Given the description of an element on the screen output the (x, y) to click on. 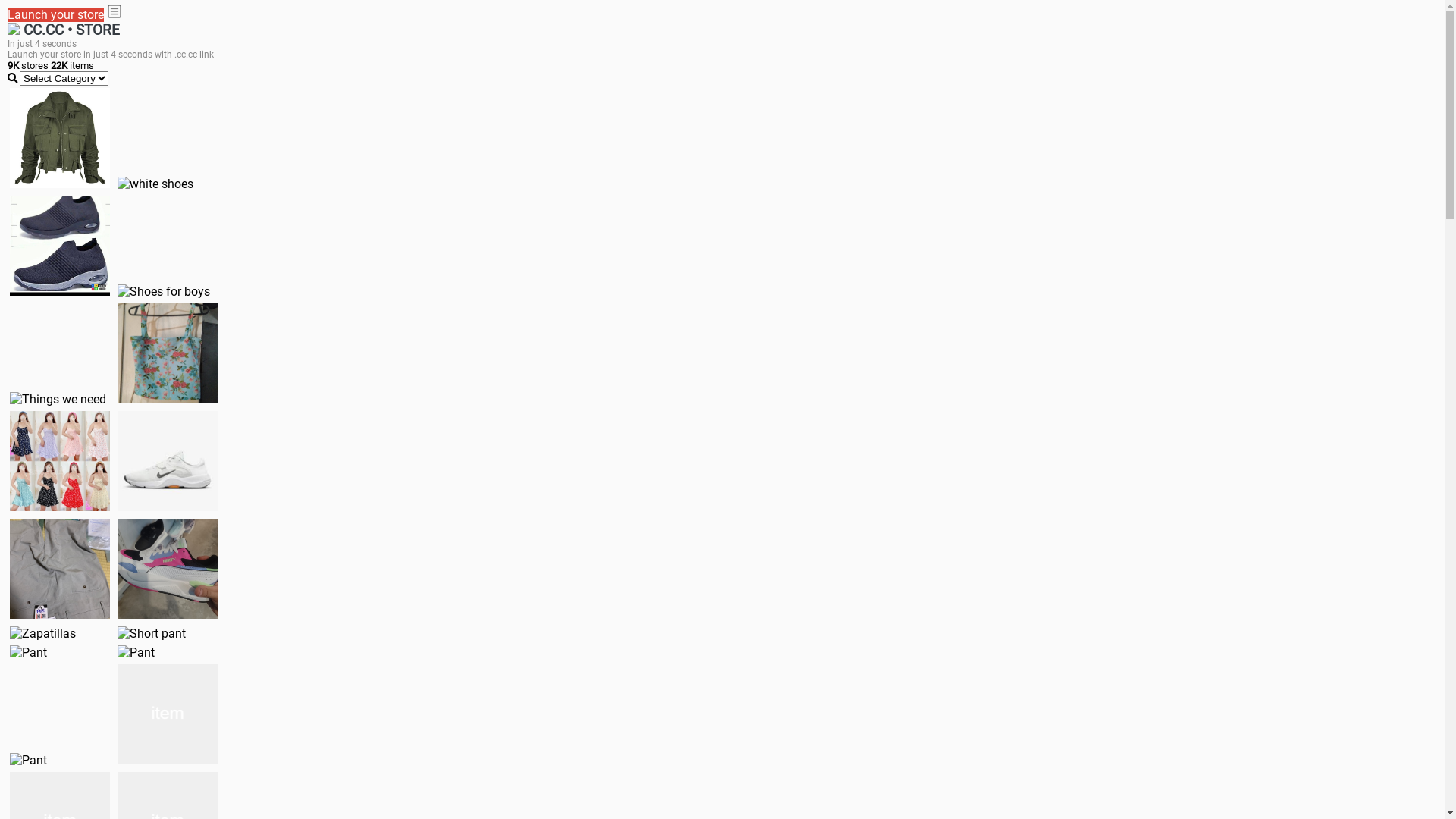
Shoes for boys Element type: hover (163, 291)
Zapatillas Element type: hover (42, 633)
Pant Element type: hover (28, 760)
Ukay cloth Element type: hover (167, 353)
jacket Element type: hover (59, 137)
Pant Element type: hover (167, 714)
Shoes Element type: hover (167, 461)
Things we need Element type: hover (57, 399)
Launch your store Element type: text (55, 14)
white shoes Element type: hover (155, 183)
Pant Element type: hover (135, 652)
Zapatillas pumas Element type: hover (167, 568)
shoes for boys Element type: hover (59, 245)
Dress/square nect top Element type: hover (59, 461)
Pant Element type: hover (28, 652)
Short pant Element type: hover (151, 633)
